Given the description of an element on the screen output the (x, y) to click on. 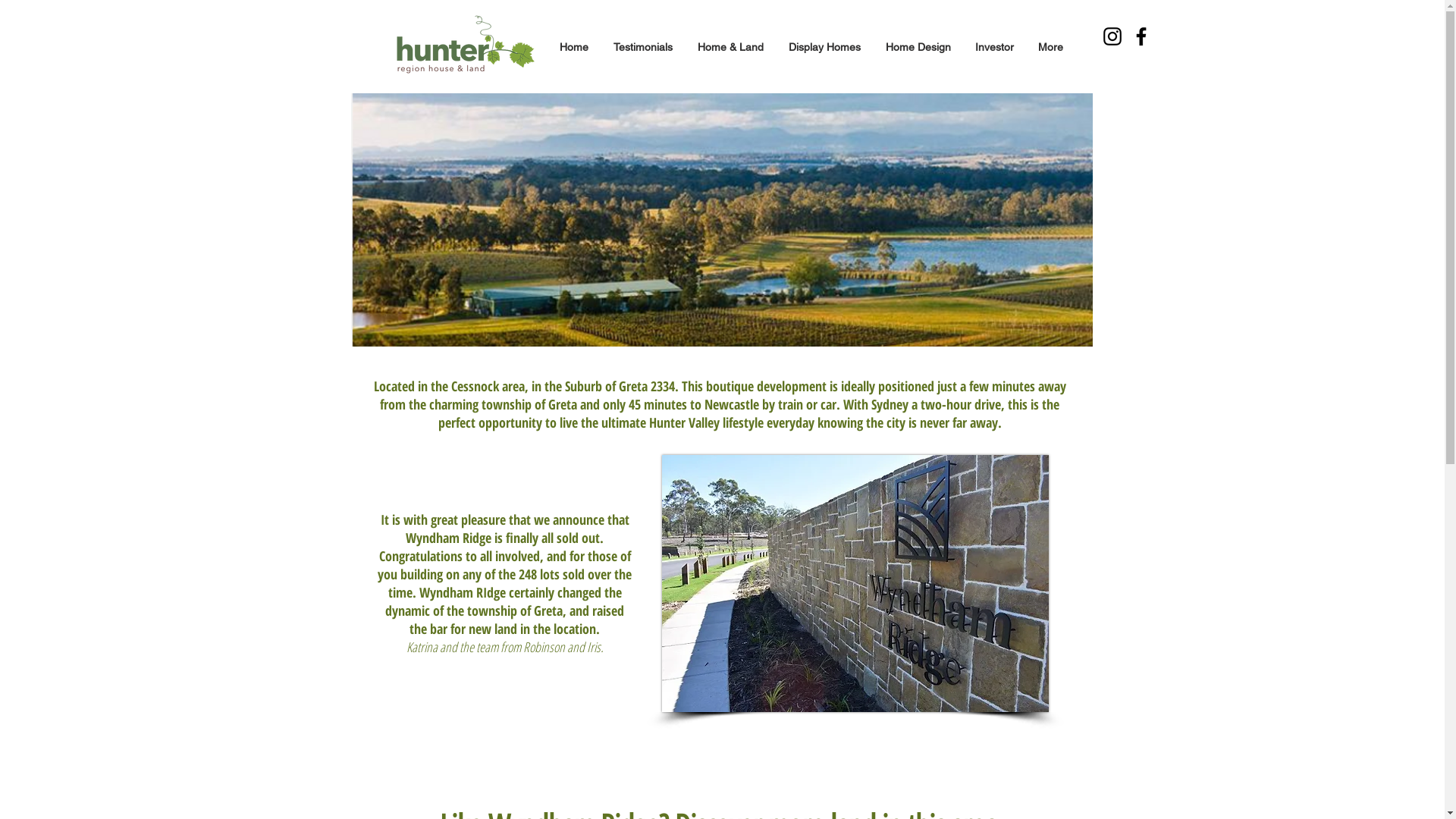
Investor Element type: text (994, 46)
Home & Land Element type: text (730, 46)
Home Element type: text (574, 46)
Display Homes Element type: text (824, 46)
Testimonials Element type: text (644, 46)
Home Design Element type: text (918, 46)
